Given the description of an element on the screen output the (x, y) to click on. 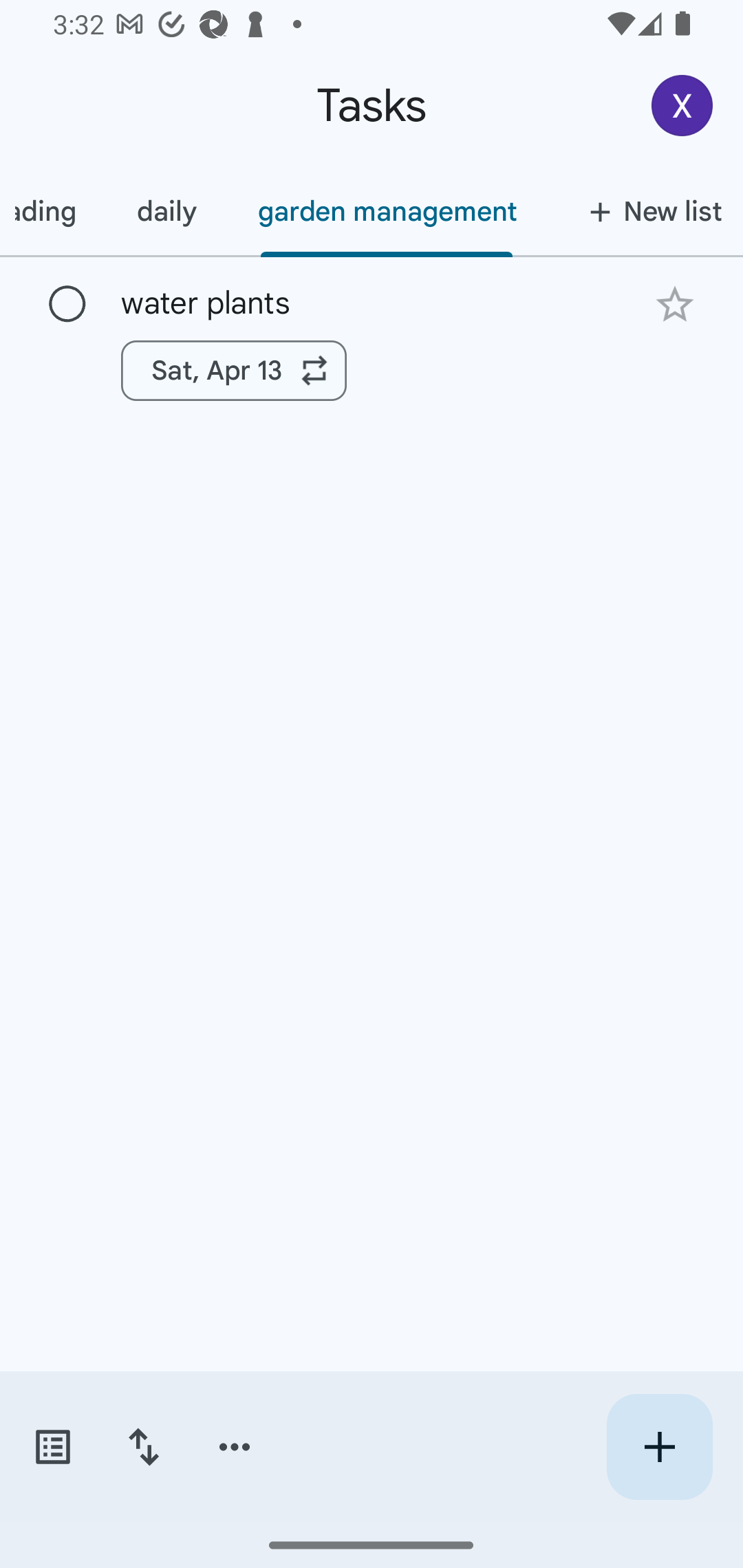
daily (166, 211)
New list (644, 211)
Add star (674, 303)
Mark as complete (67, 304)
Sat, Apr 13 (233, 369)
Switch task lists (52, 1447)
Create new task (659, 1446)
Change sort order (143, 1446)
More options (234, 1446)
